Given the description of an element on the screen output the (x, y) to click on. 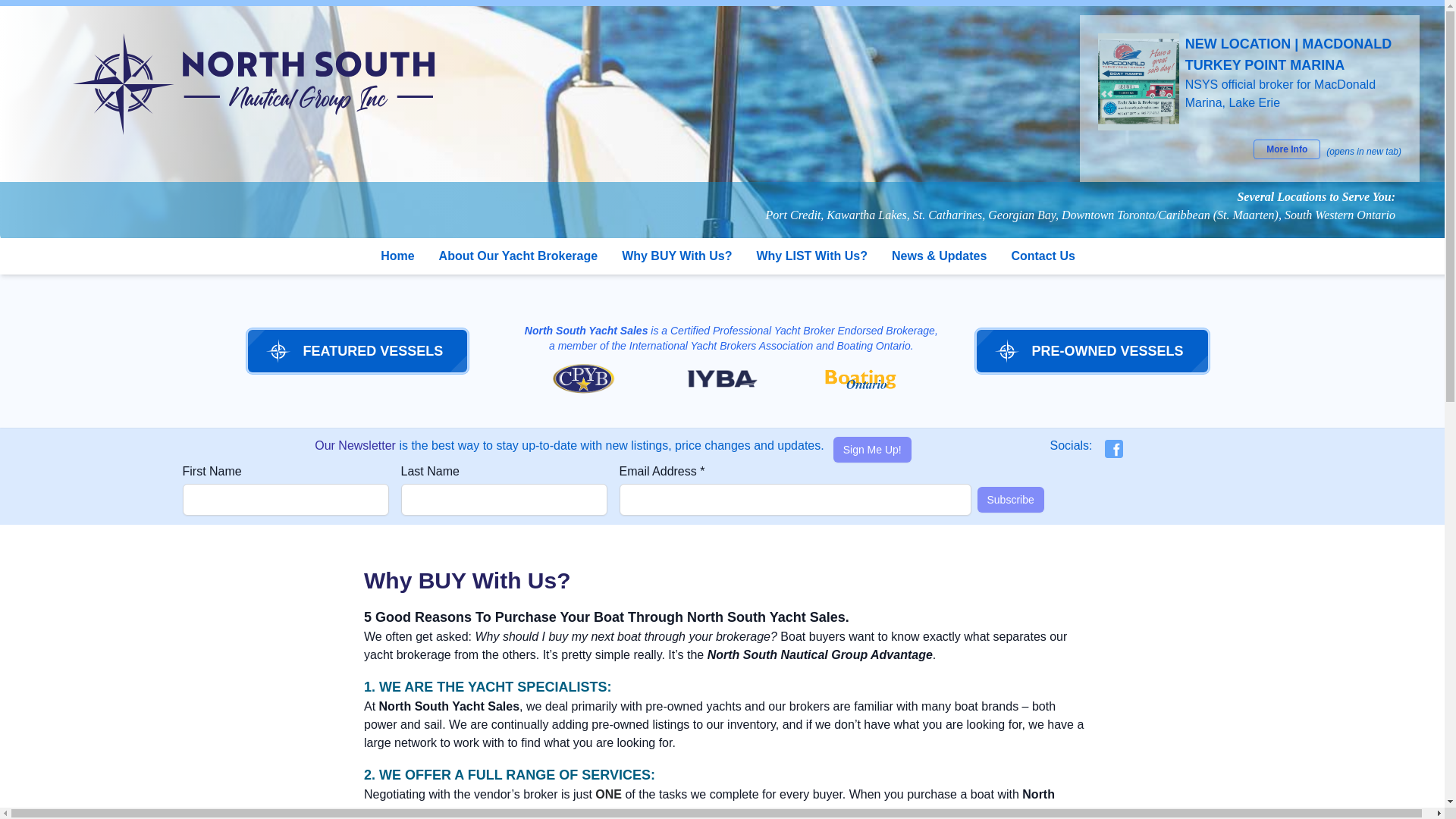
Contact Us (1042, 255)
Why LIST With Us? (811, 255)
Why BUY With Us? (676, 255)
About Our Yacht Brokerage (518, 255)
Home (396, 255)
More Info (1286, 148)
Subscribe (1009, 499)
FEATURED VESSELS (357, 351)
